Given the description of an element on the screen output the (x, y) to click on. 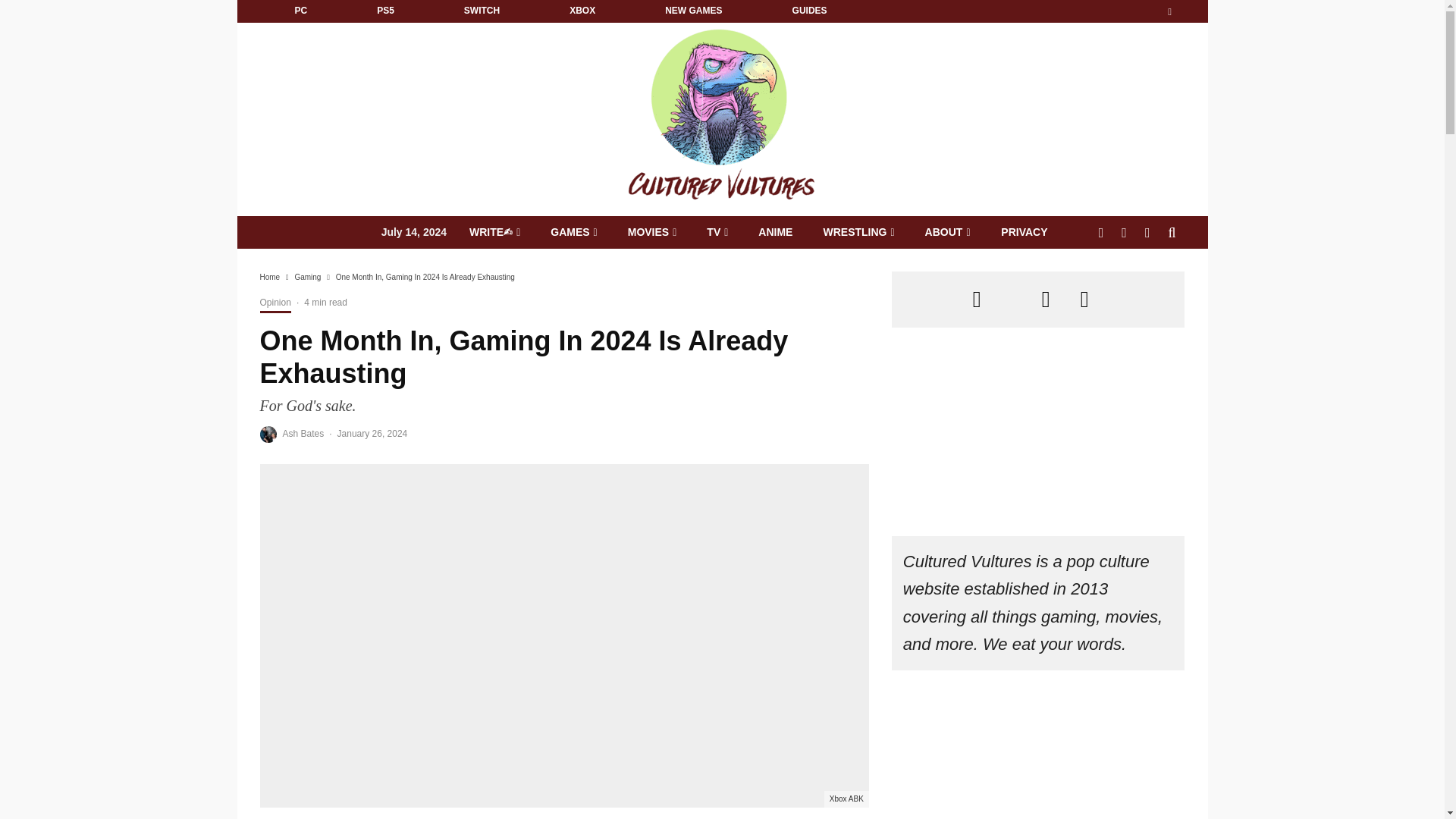
GAMES (573, 232)
New Games Coming Out (693, 11)
PS5 (385, 11)
Video Game Guides (809, 11)
NEW GAMES (693, 11)
Switch News (481, 11)
SWITCH (481, 11)
PC (300, 11)
GUIDES (809, 11)
XBOX (582, 11)
